Given the description of an element on the screen output the (x, y) to click on. 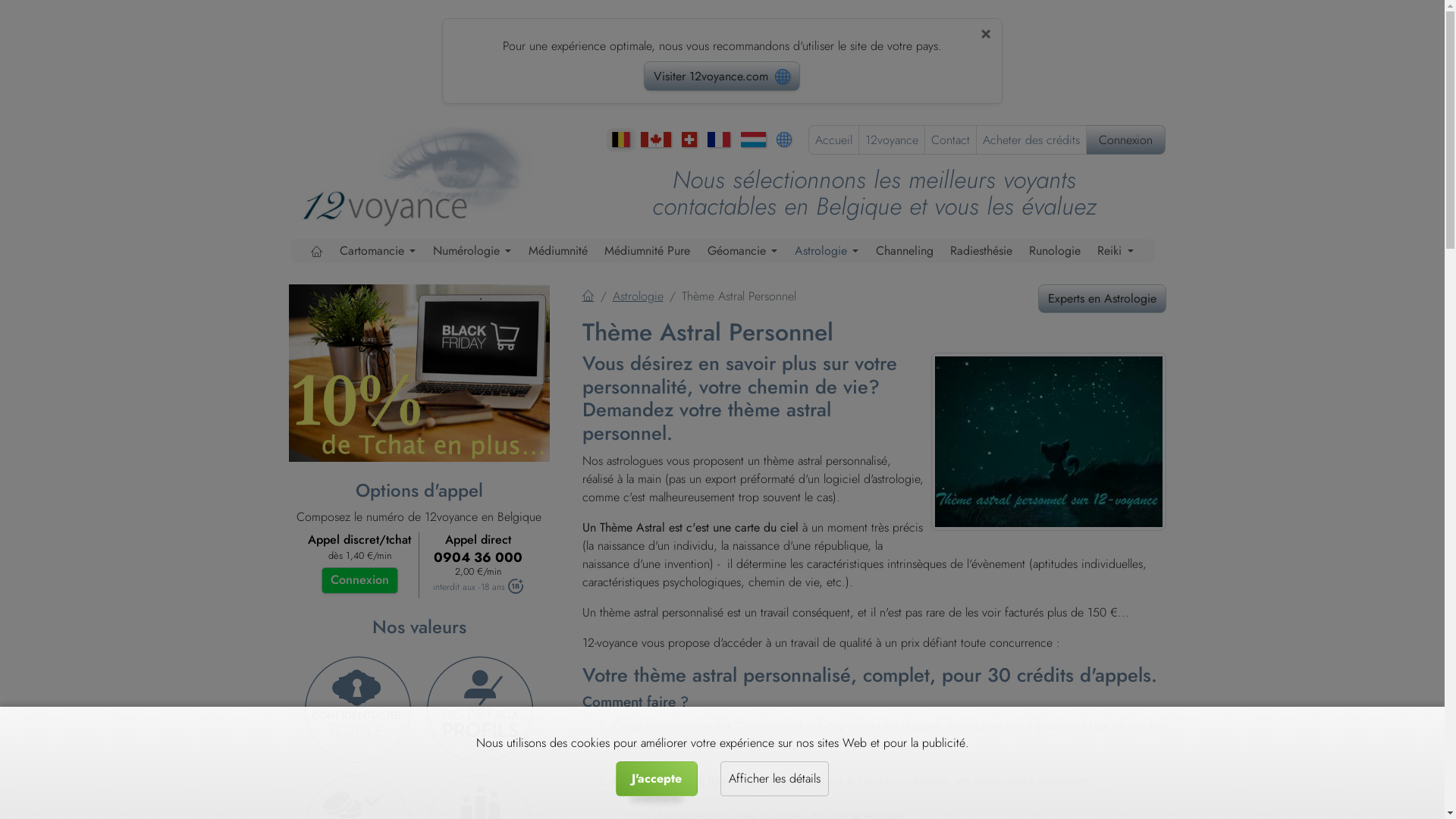
12voyance Element type: text (890, 139)
Accueil Element type: text (832, 139)
Connexion Element type: text (1124, 139)
Cartomancie Element type: text (377, 250)
Runologie Element type: text (1054, 250)
Page d'accueil de 12voyance Element type: hover (425, 173)
Astrologie Element type: text (826, 250)
J'accepte Element type: text (656, 778)
Channeling Element type: text (904, 250)
Experts en Astrologie Element type: text (1101, 298)
Connexion Element type: text (359, 580)
Astrologie Element type: text (637, 295)
Accueil Element type: hover (588, 295)
Contact Element type: text (950, 139)
Reiki Element type: text (1115, 250)
Visiter 12voyance.com Element type: text (721, 76)
